Given the description of an element on the screen output the (x, y) to click on. 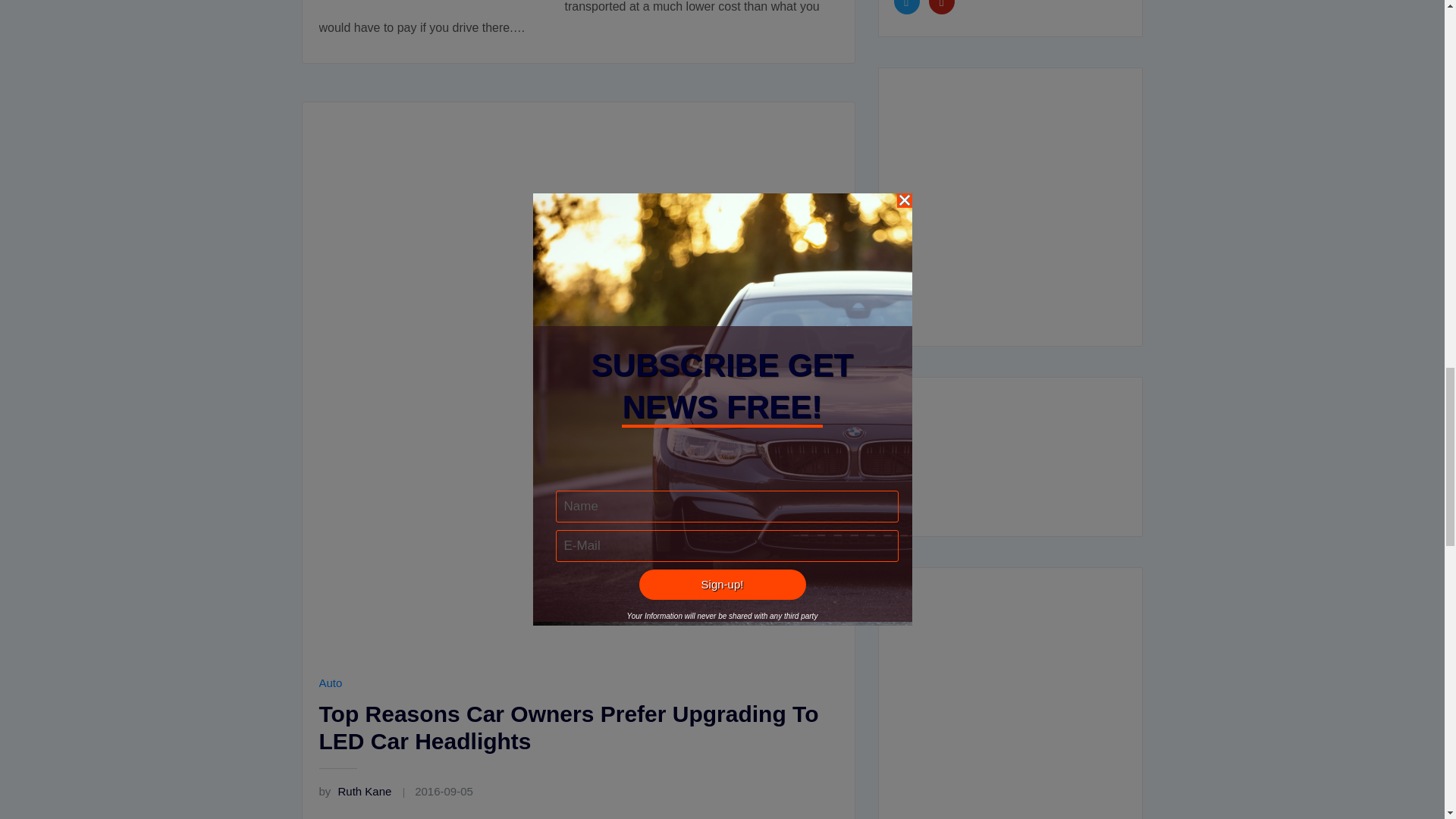
Instagram (941, 3)
twitter (905, 3)
Twitter (905, 3)
pinterest (941, 3)
2016-09-05 (443, 790)
Auto (330, 682)
by Ruth Kane (354, 790)
